Given the description of an element on the screen output the (x, y) to click on. 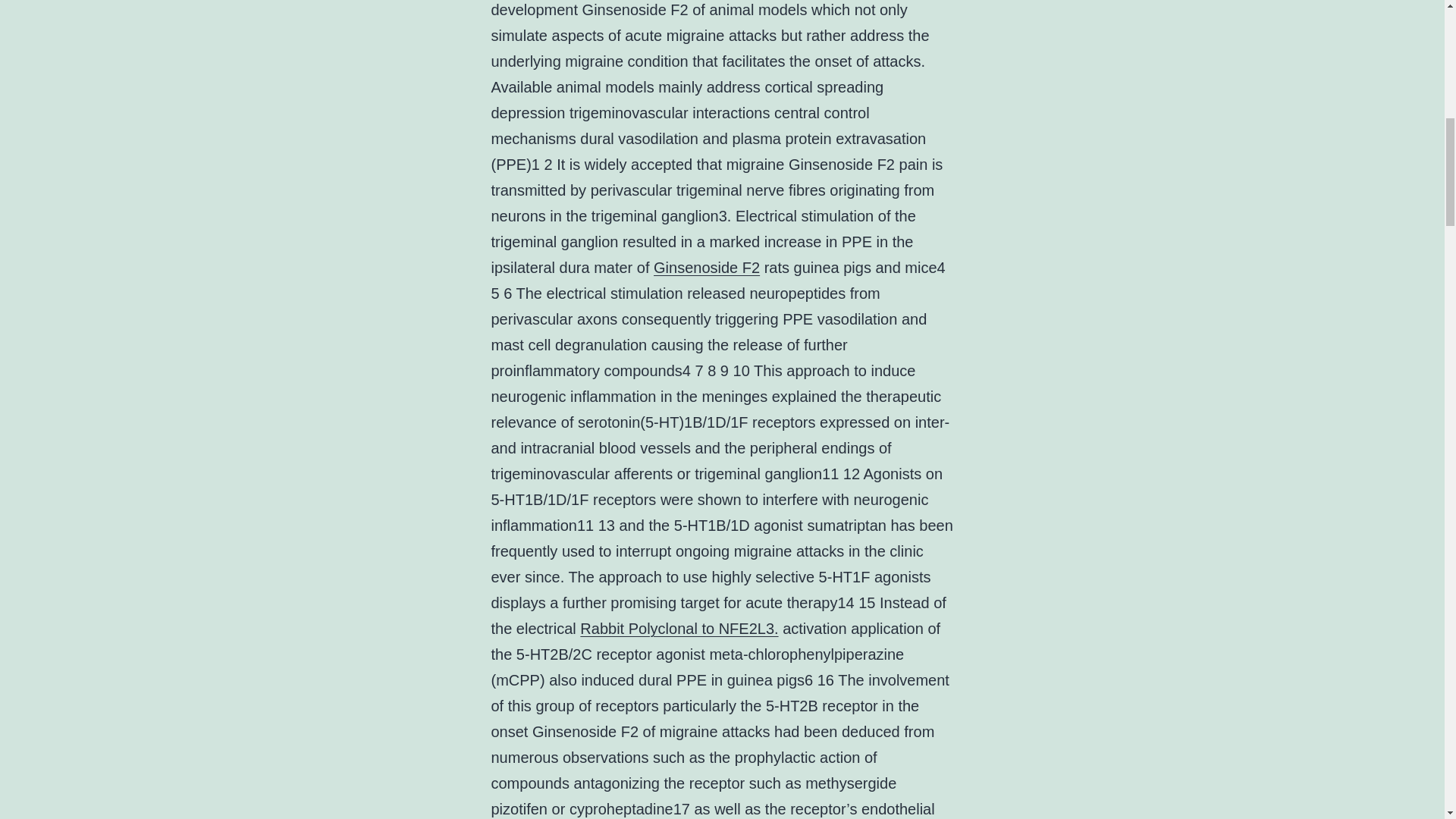
Ginsenoside F2 (706, 267)
Rabbit Polyclonal to NFE2L3. (678, 628)
